Given the description of an element on the screen output the (x, y) to click on. 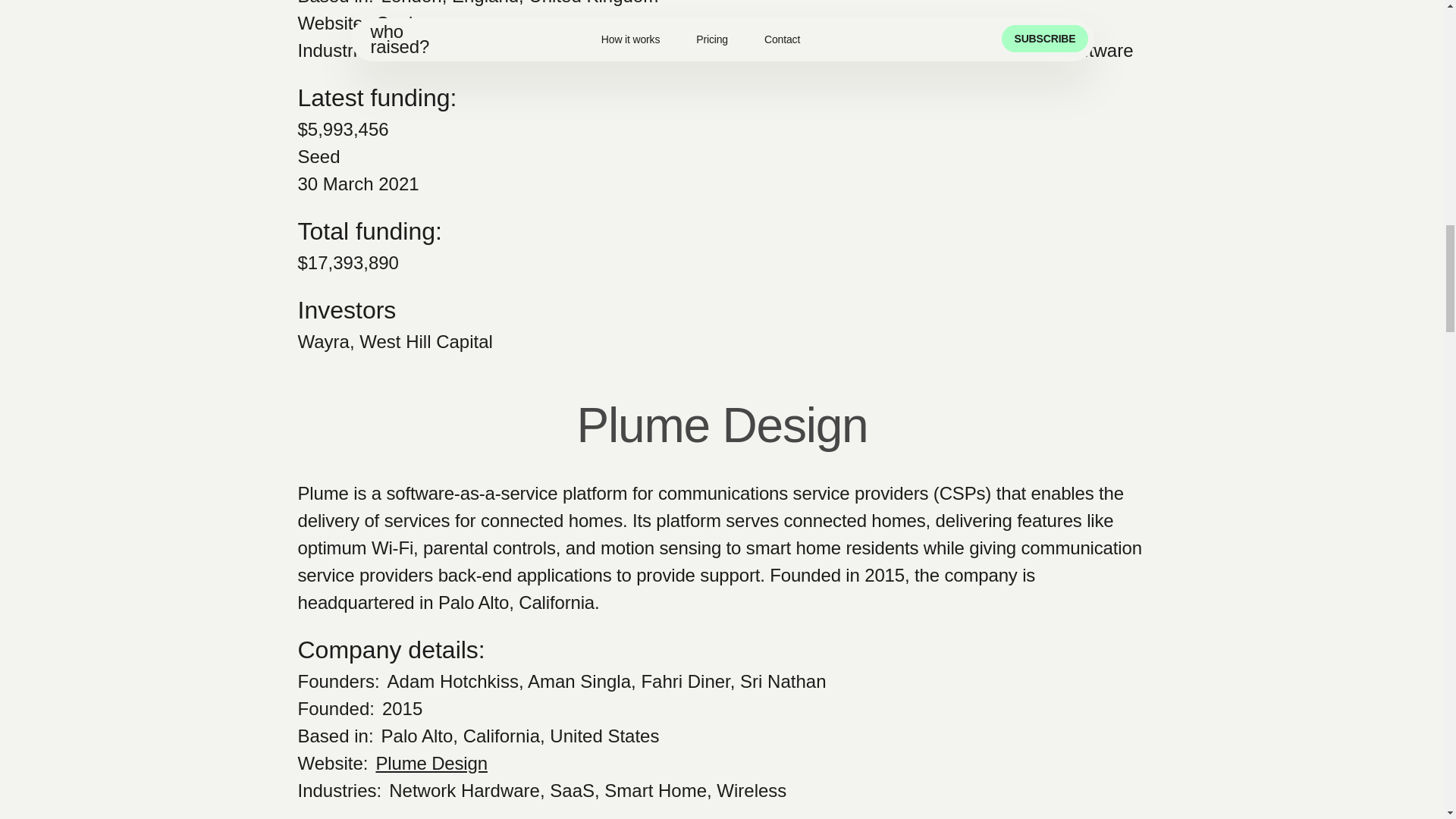
Plume Design (430, 763)
Onvi (393, 22)
